Given the description of an element on the screen output the (x, y) to click on. 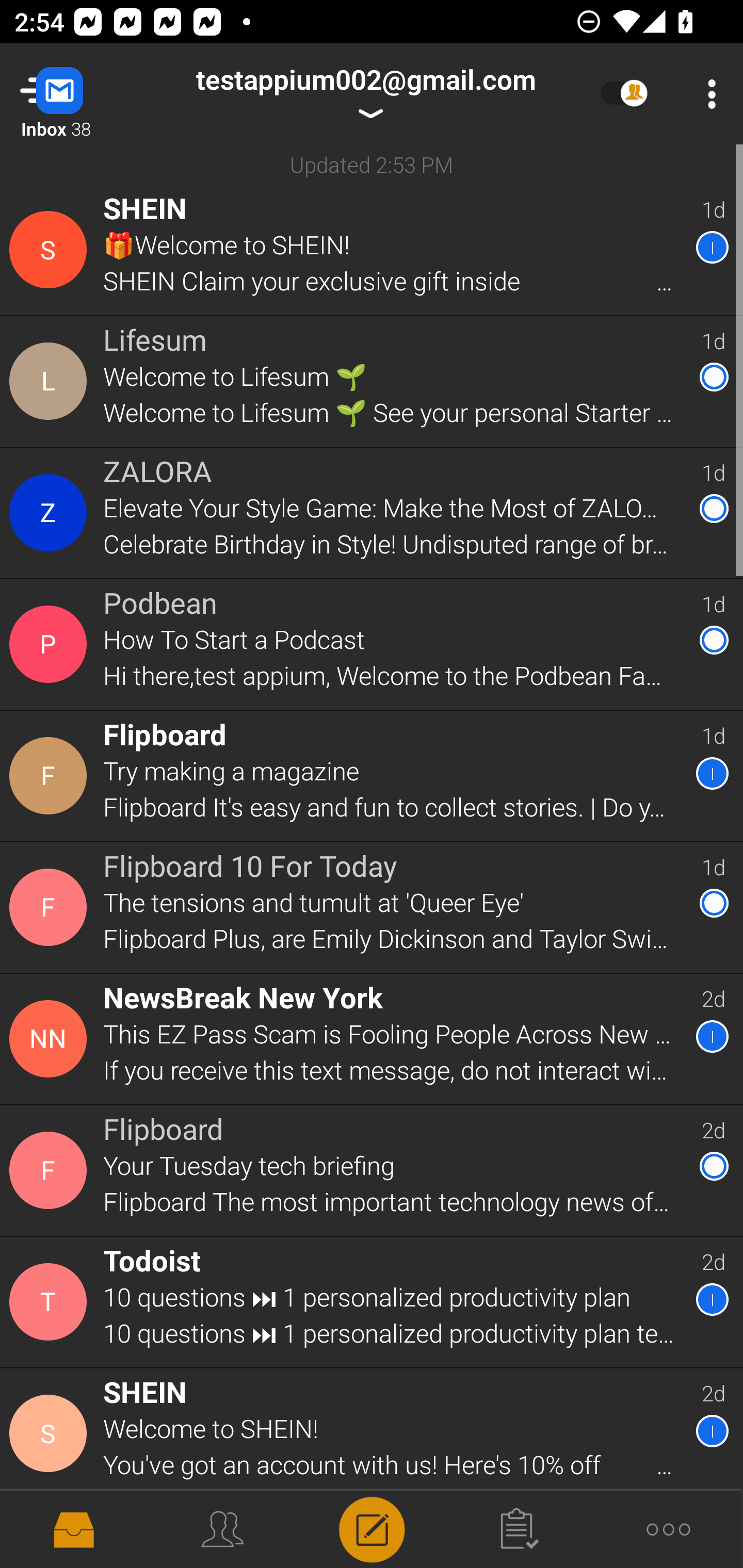
Navigate up (81, 93)
testappium002@gmail.com (365, 93)
More Options (706, 93)
Updated 2:53 PM (371, 164)
Contact Details (50, 250)
Contact Details (50, 381)
Contact Details (50, 513)
Contact Details (50, 644)
Contact Details (50, 776)
Contact Details (50, 907)
Contact Details (50, 1038)
Contact Details (50, 1170)
Contact Details (50, 1302)
Contact Details (50, 1433)
